Given the description of an element on the screen output the (x, y) to click on. 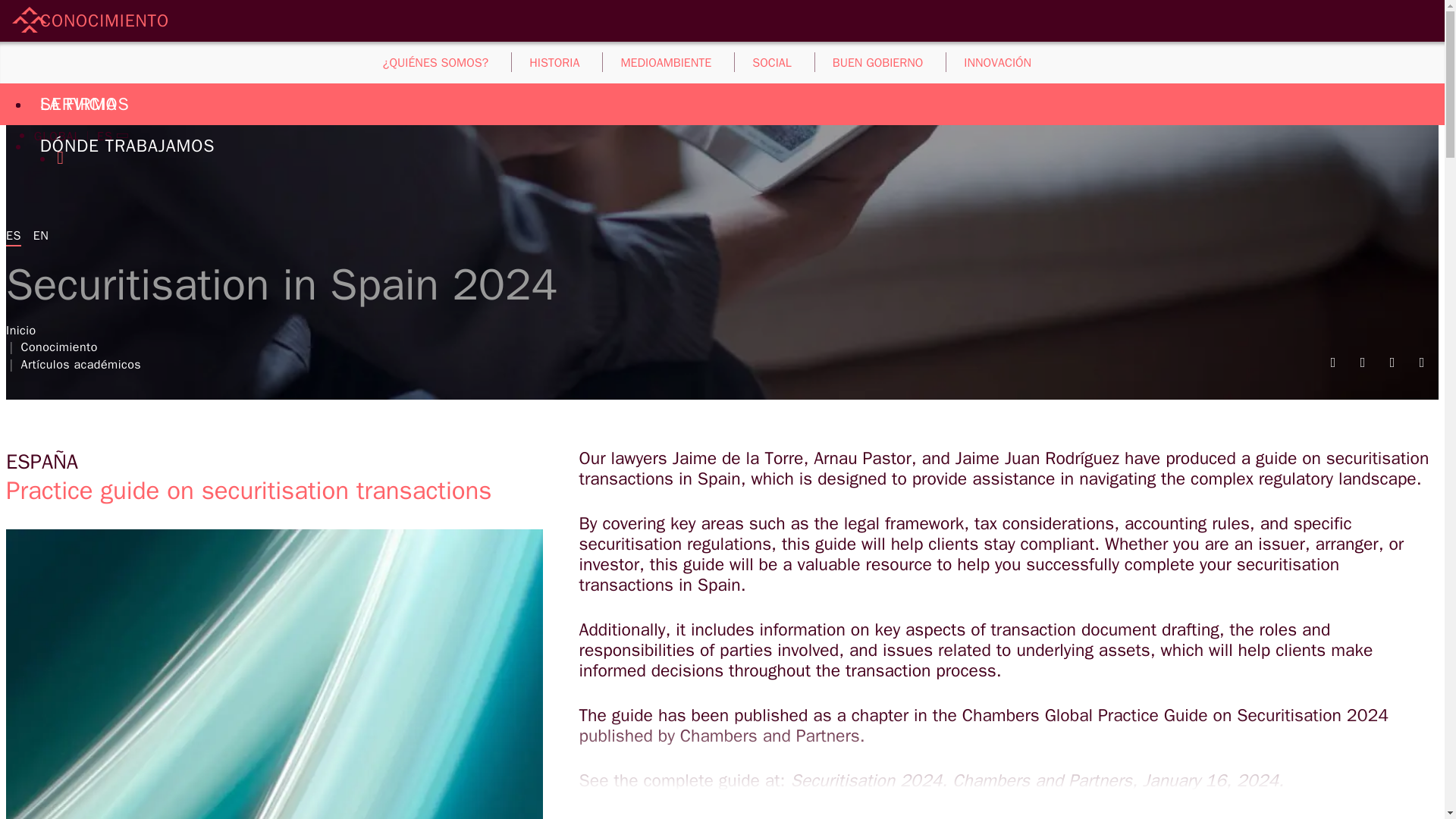
CUATRECASAS ACELERA (878, 60)
ABOGADOS (86, 62)
WEBS (50, 114)
EVENTOS (757, 60)
MEDIOAMBIENTE (665, 60)
BUEN GOBIERNO (877, 60)
ACADEMIA CUATRECASAS (1306, 60)
GLOBAL ES (73, 136)
CONTACTO (65, 93)
CONOCIMIENTO (104, 20)
